Given the description of an element on the screen output the (x, y) to click on. 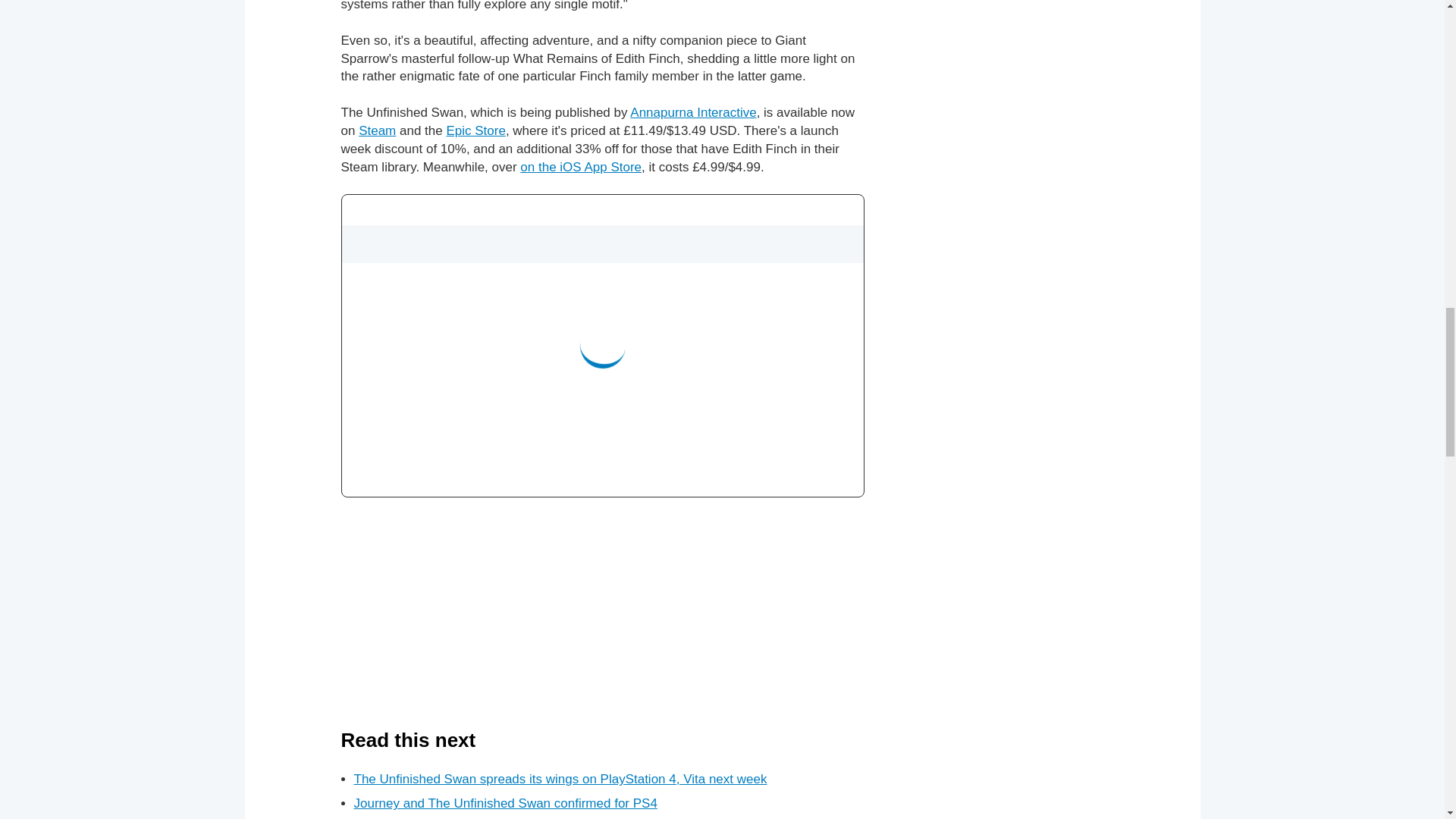
Steam (377, 130)
Annapurna Interactive (692, 112)
Journey and The Unfinished Swan confirmed for PS4 (504, 803)
on the iOS App Store (580, 166)
Epic Store (475, 130)
